Given the description of an element on the screen output the (x, y) to click on. 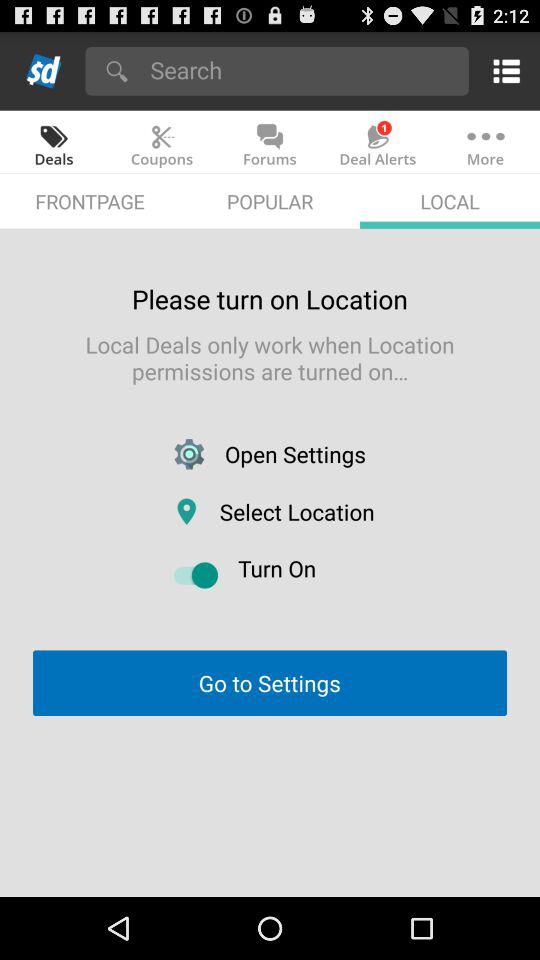
select icon next to the frontpage app (270, 200)
